Given the description of an element on the screen output the (x, y) to click on. 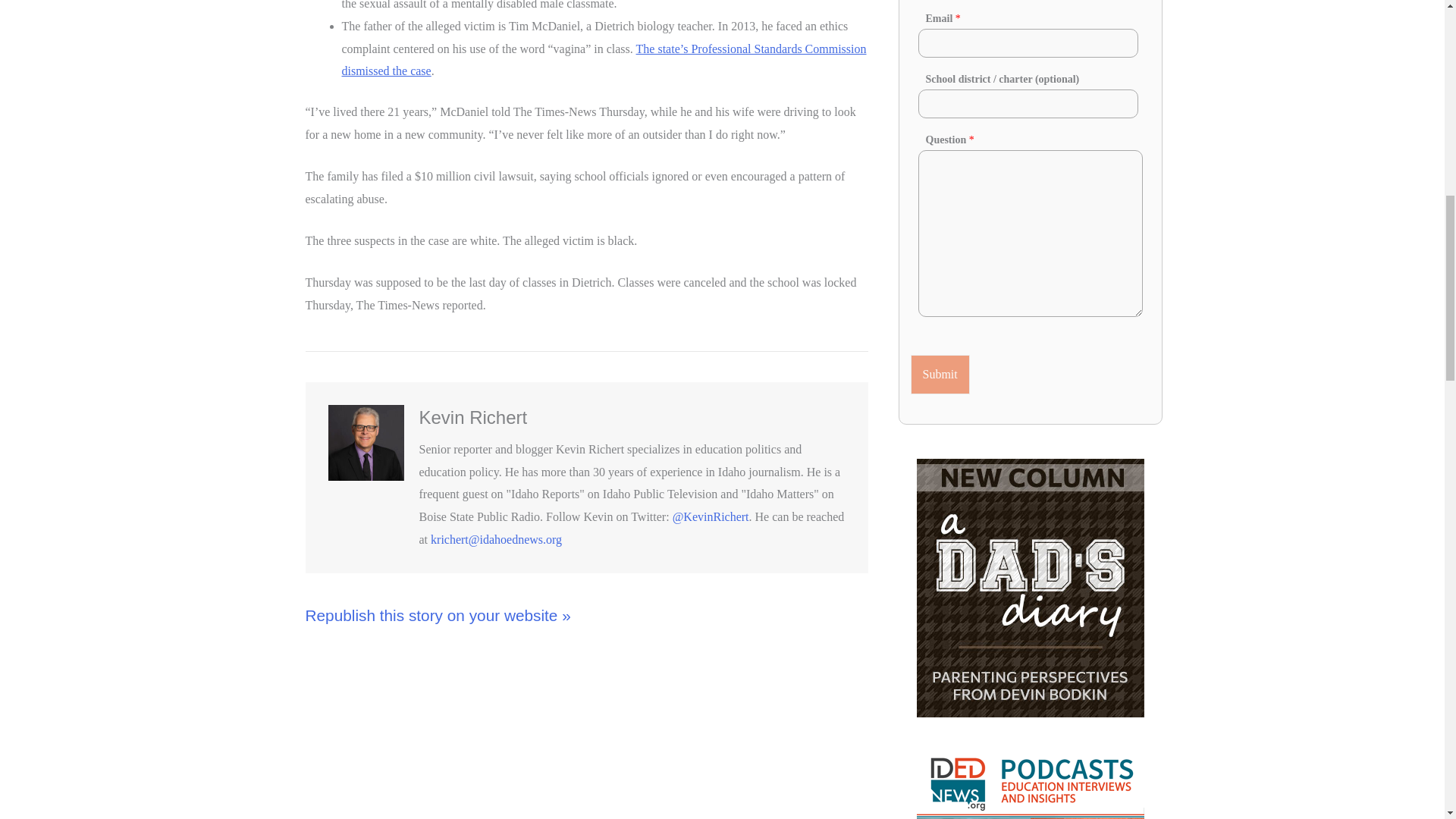
Submit (939, 373)
